Given the description of an element on the screen output the (x, y) to click on. 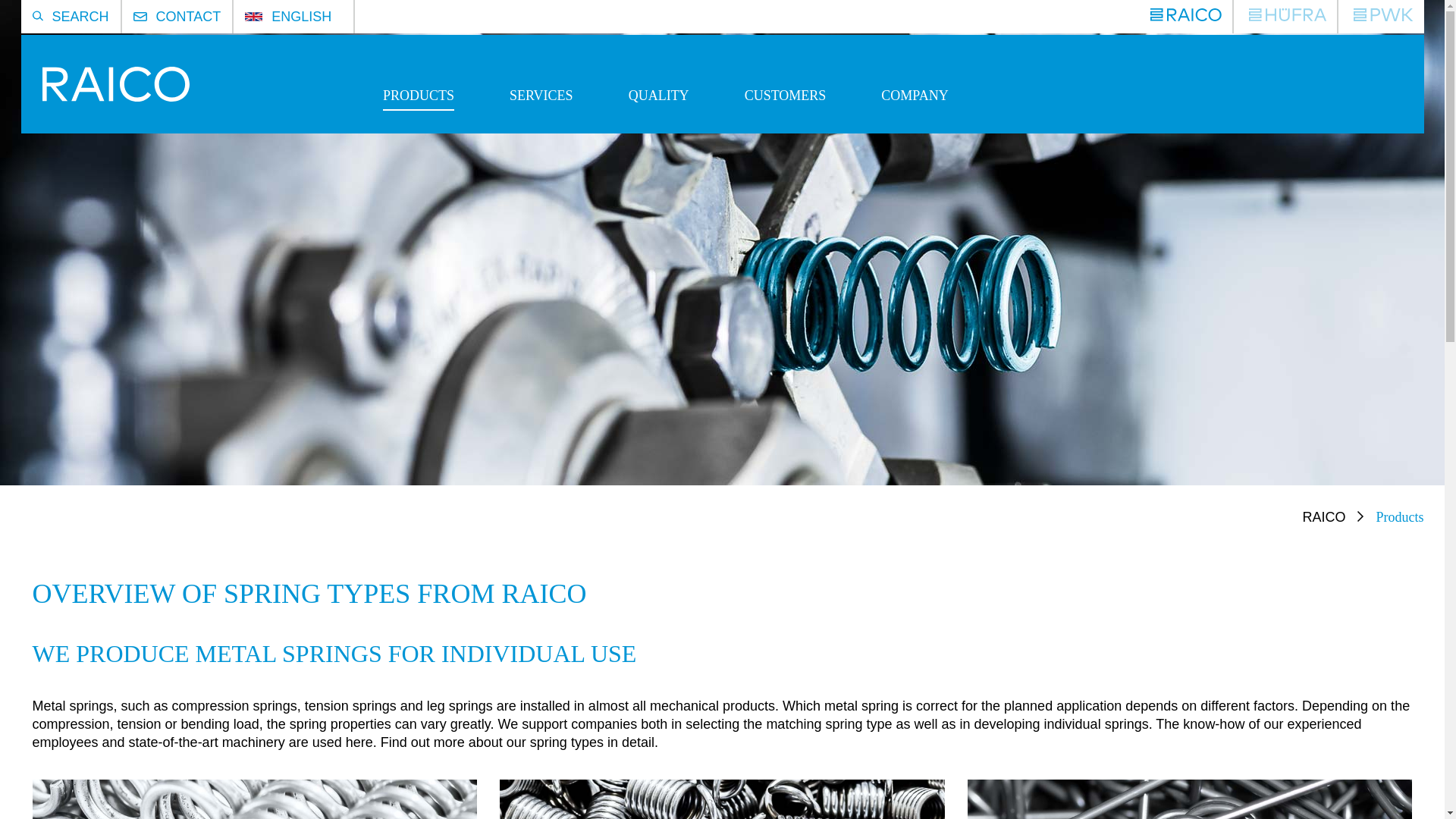
SERVICES (541, 110)
SEARCH (69, 16)
RAICO (1185, 16)
arrow-right (1360, 516)
MAILCONTACT (177, 16)
Home (110, 96)
MAIL (140, 16)
PWK (1383, 16)
PRODUCTS (418, 110)
HUEFRA (1287, 16)
